Given the description of an element on the screen output the (x, y) to click on. 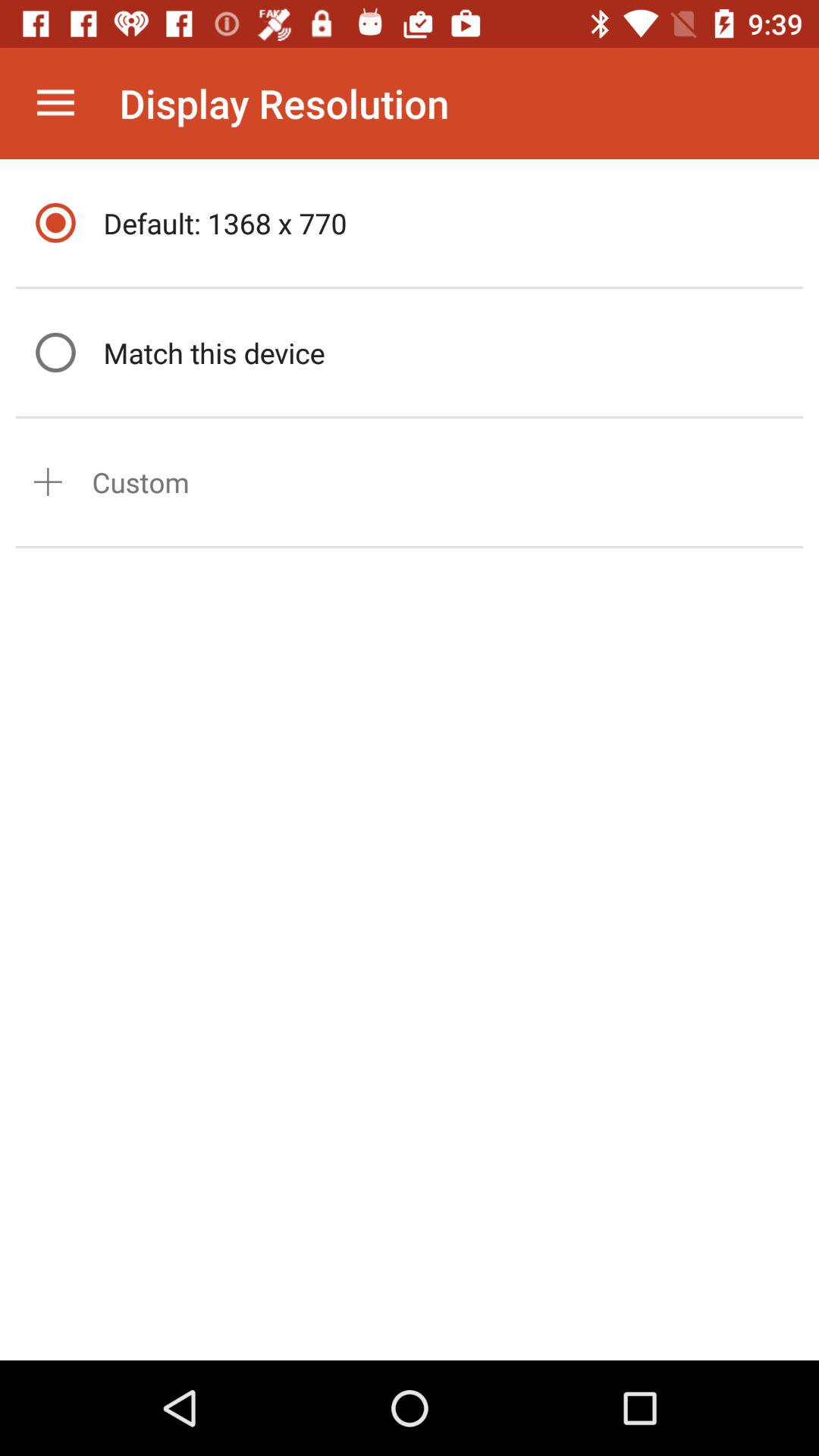
jump to custom item (140, 482)
